Given the description of an element on the screen output the (x, y) to click on. 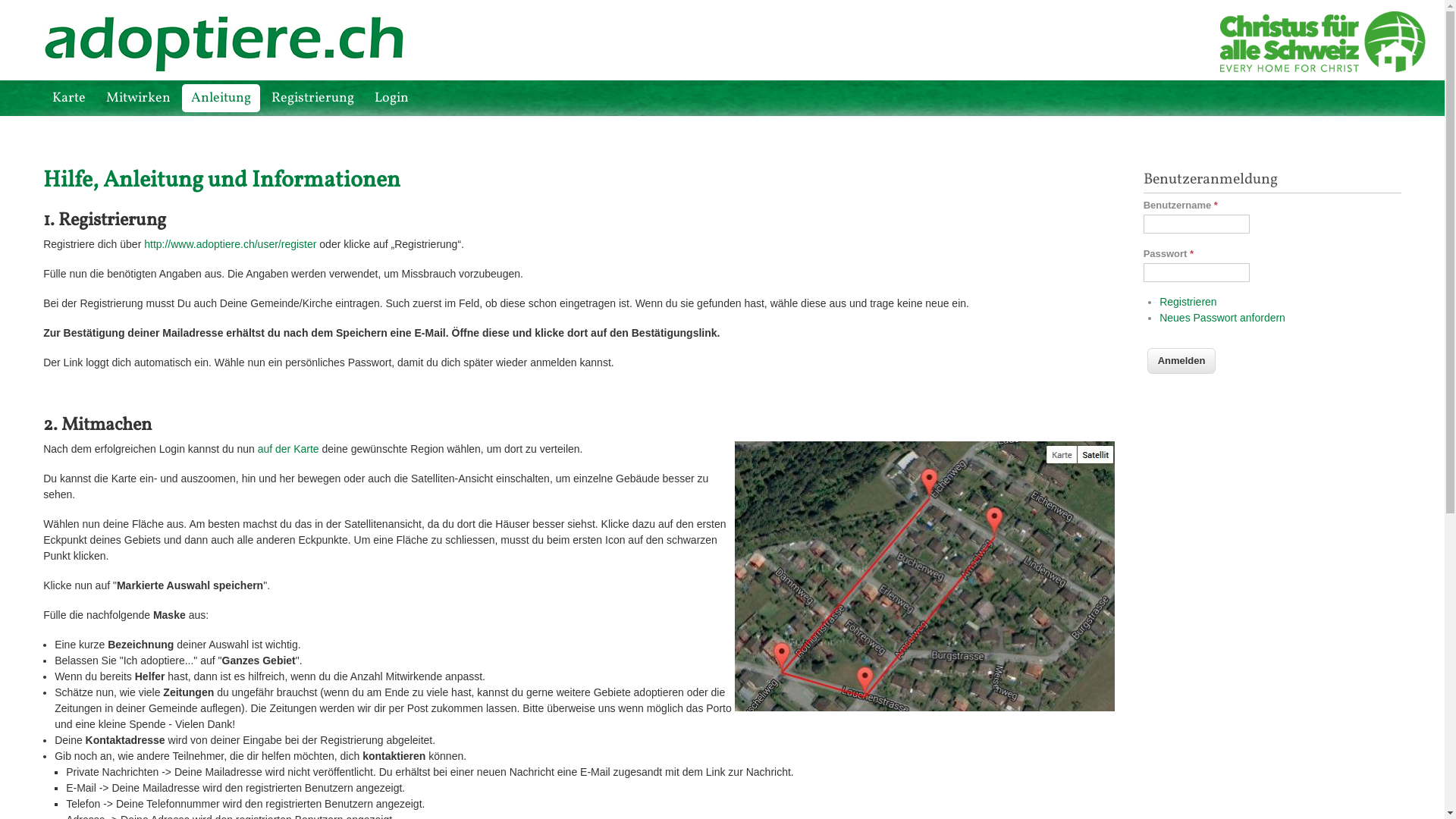
Anmelden Element type: text (1181, 360)
Karte Element type: text (68, 98)
Registrierung Element type: text (312, 98)
http://www.adoptiere.ch/user/register Element type: text (230, 244)
auf der Karte Element type: text (288, 448)
Registrieren Element type: text (1187, 301)
Mitwirken Element type: text (138, 98)
Anleitung Element type: text (221, 98)
Neues Passwort anfordern Element type: text (1222, 317)
Startseite Element type: hover (236, 68)
Login Element type: text (391, 98)
